Given the description of an element on the screen output the (x, y) to click on. 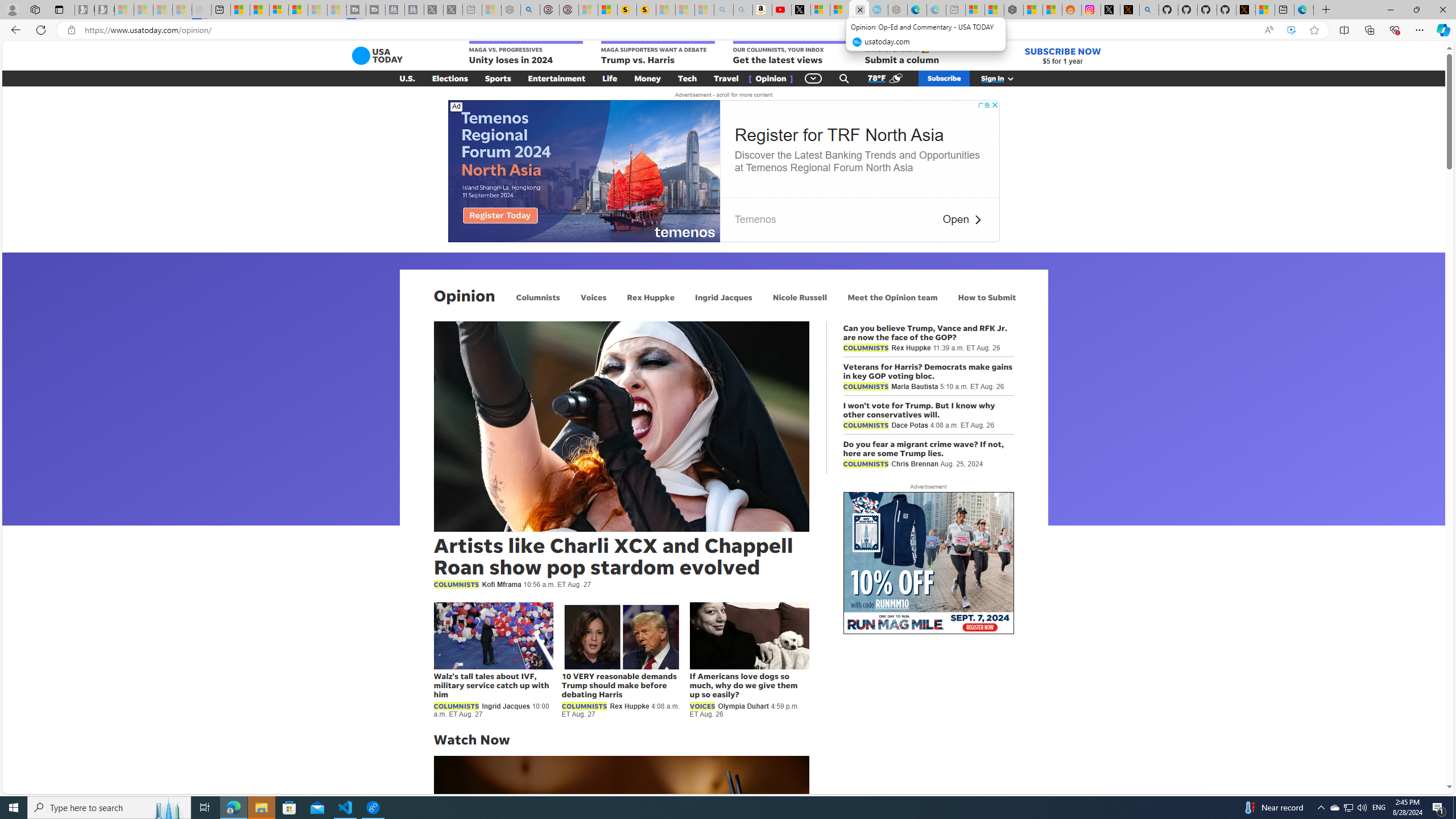
Tech (687, 78)
Entertainment (556, 78)
Address and search bar (669, 29)
github - Search (1148, 9)
Class: gnt_n_us_a_svg (1008, 78)
Tab actions menu (58, 9)
Nordace - Duffels (1012, 9)
help.x.com | 524: A timeout occurred (1129, 9)
Subscribe (943, 78)
Split screen (1344, 29)
Close tab (860, 9)
